Given the description of an element on the screen output the (x, y) to click on. 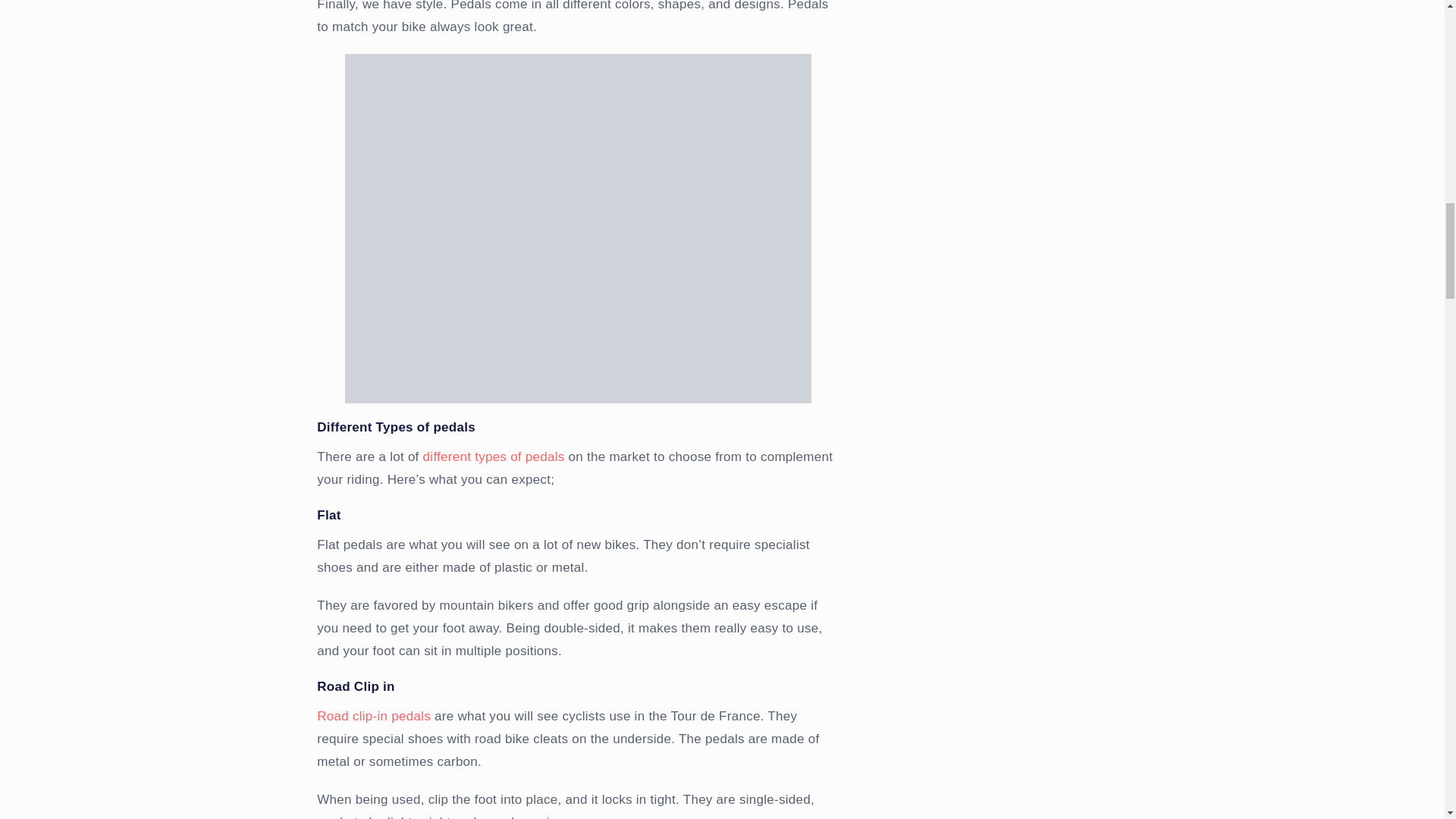
different types of pedals (493, 456)
Road clip-in pedals (373, 716)
